Given the description of an element on the screen output the (x, y) to click on. 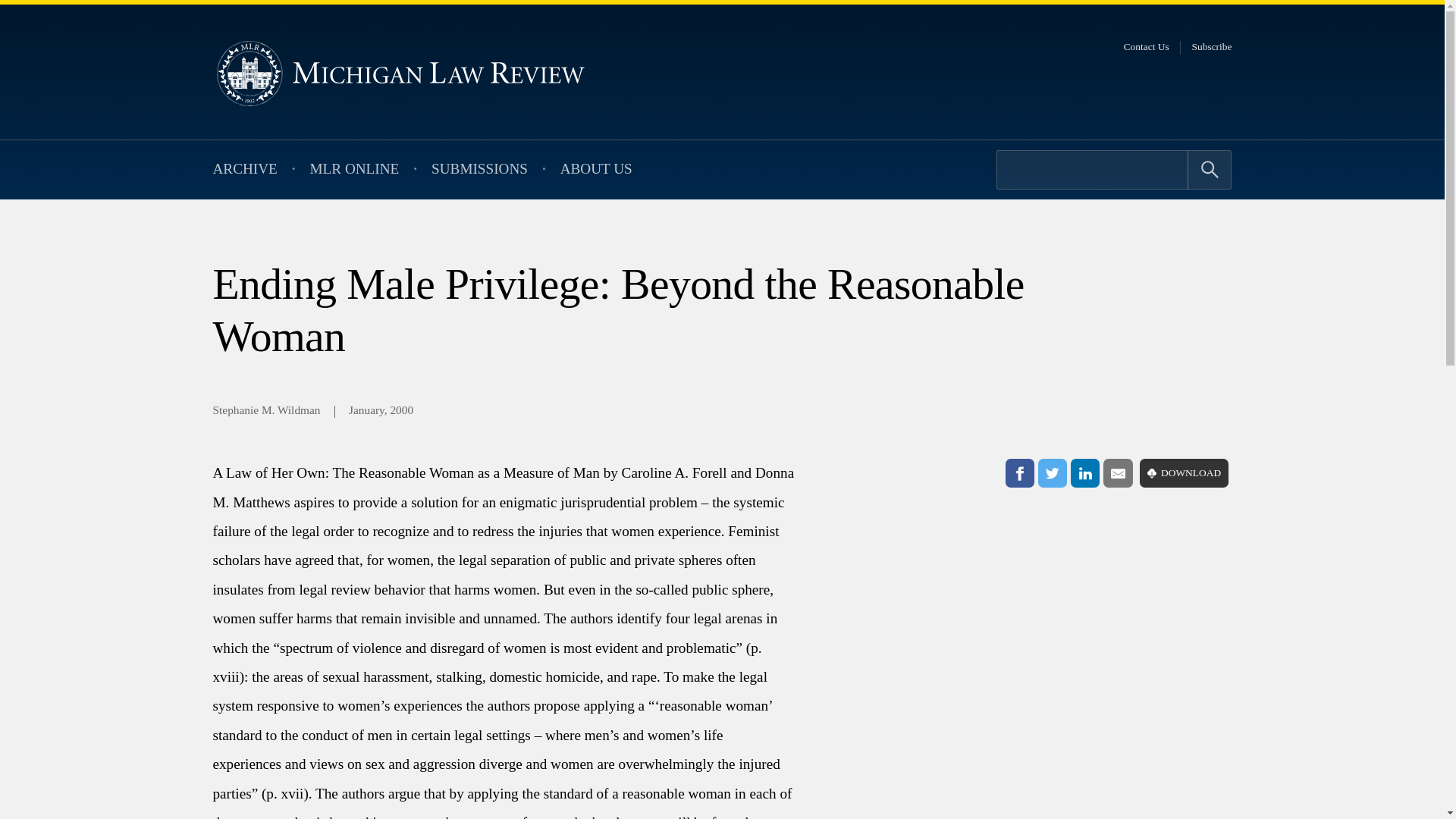
Facebook (1019, 472)
Twitter (1052, 472)
ABOUT US (595, 169)
ARCHIVE (244, 169)
Subscribe (1211, 46)
DOWNLOAD (1184, 472)
Search (1209, 169)
E-Mail (1117, 472)
LinkedIn (1084, 472)
Contact Us (1146, 46)
